Given the description of an element on the screen output the (x, y) to click on. 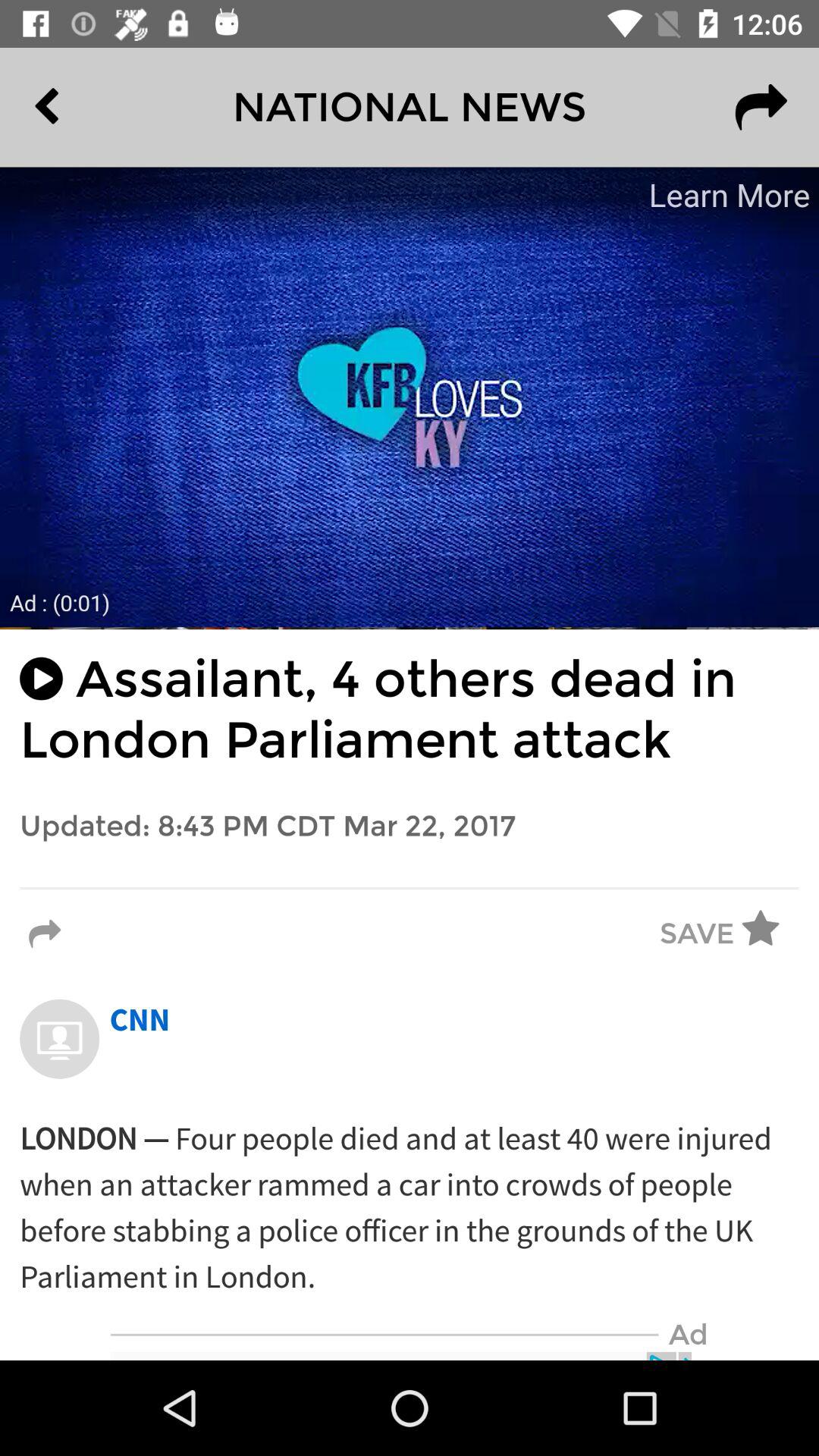
launch the item to the left of the national news icon (81, 107)
